Given the description of an element on the screen output the (x, y) to click on. 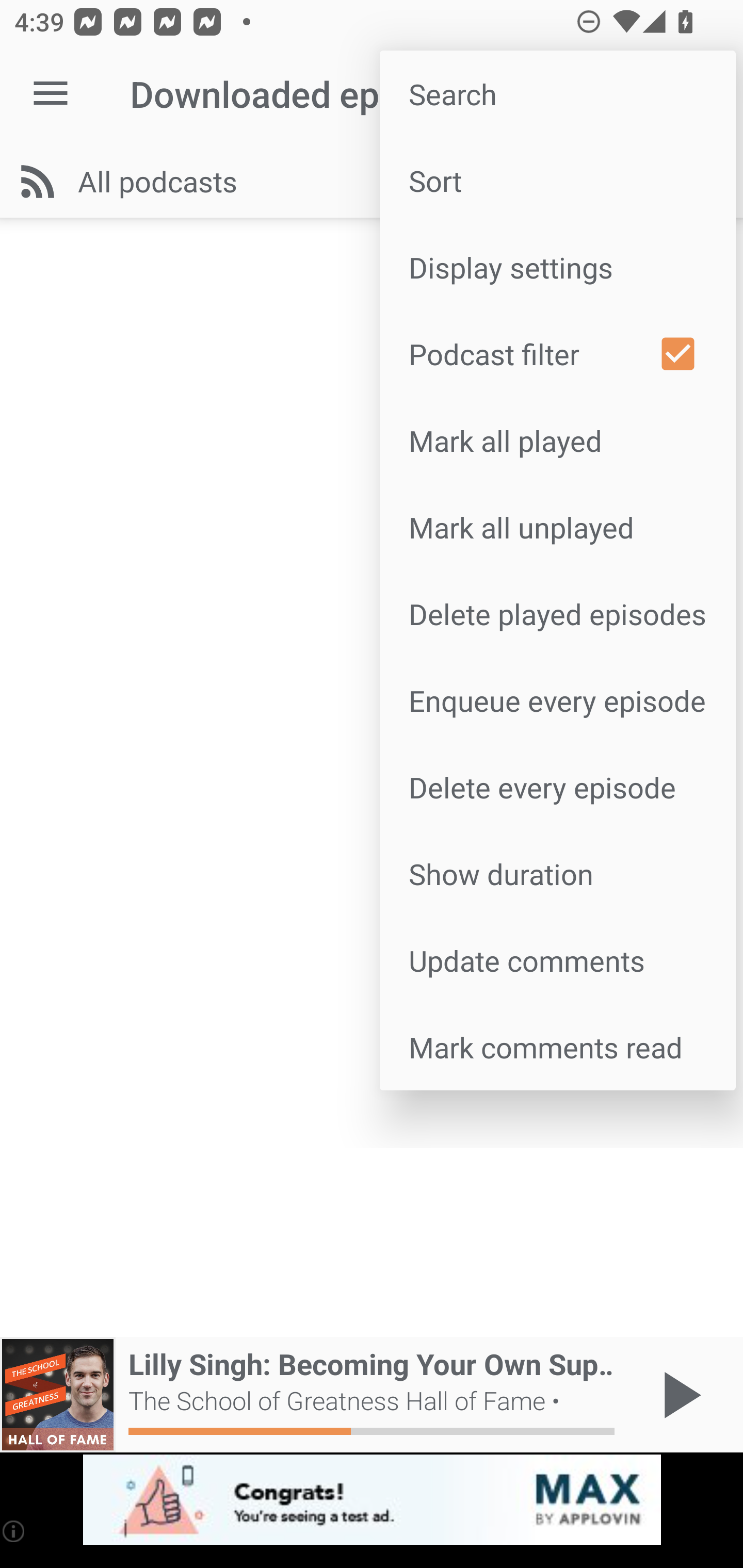
Search (557, 93)
Sort (557, 180)
Display settings (557, 267)
Podcast filter (557, 353)
Mark all played (557, 440)
Mark all unplayed (557, 527)
Delete played episodes (557, 613)
Enqueue every episode (557, 699)
Delete every episode (557, 787)
Show duration (557, 874)
Update comments (557, 960)
Mark comments read (557, 1046)
